Given the description of an element on the screen output the (x, y) to click on. 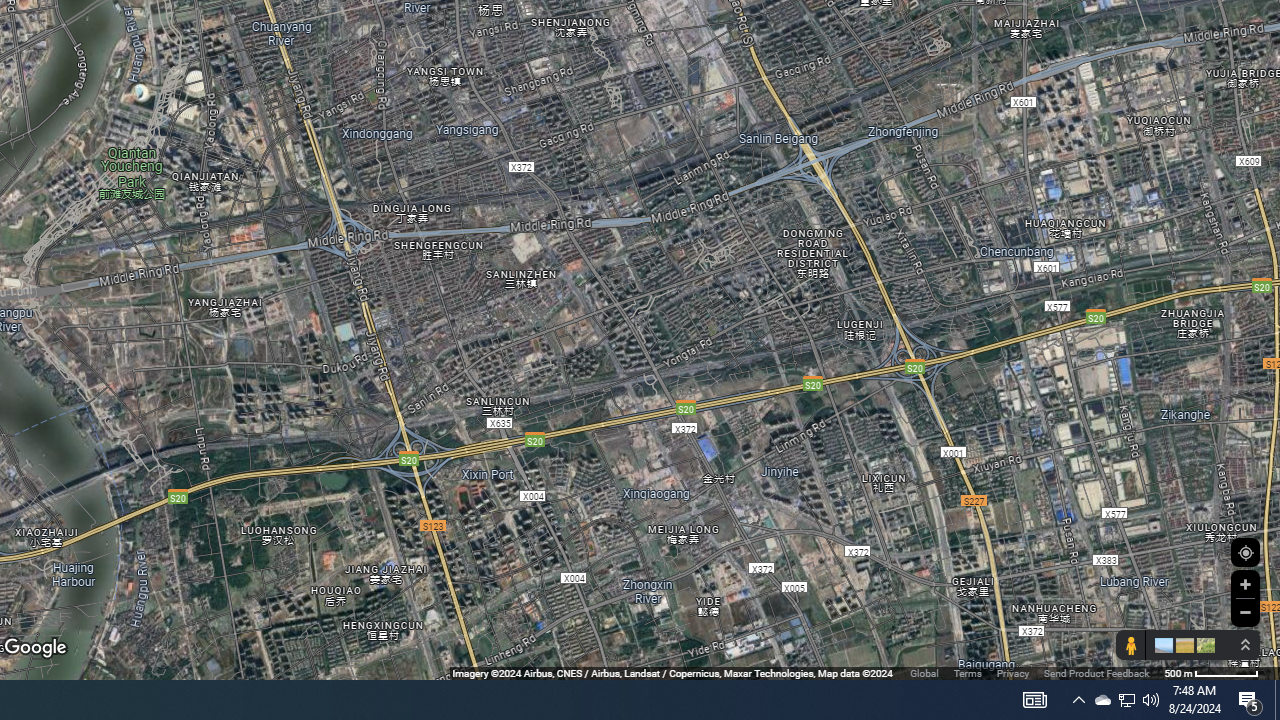
Zoom in (1245, 584)
Zoom out (1245, 612)
Global (924, 672)
Show imagery (1202, 645)
Send Product Feedback (1096, 672)
Show Your Location (1245, 552)
500 m (1211, 672)
Show Street View coverage (1130, 645)
